Given the description of an element on the screen output the (x, y) to click on. 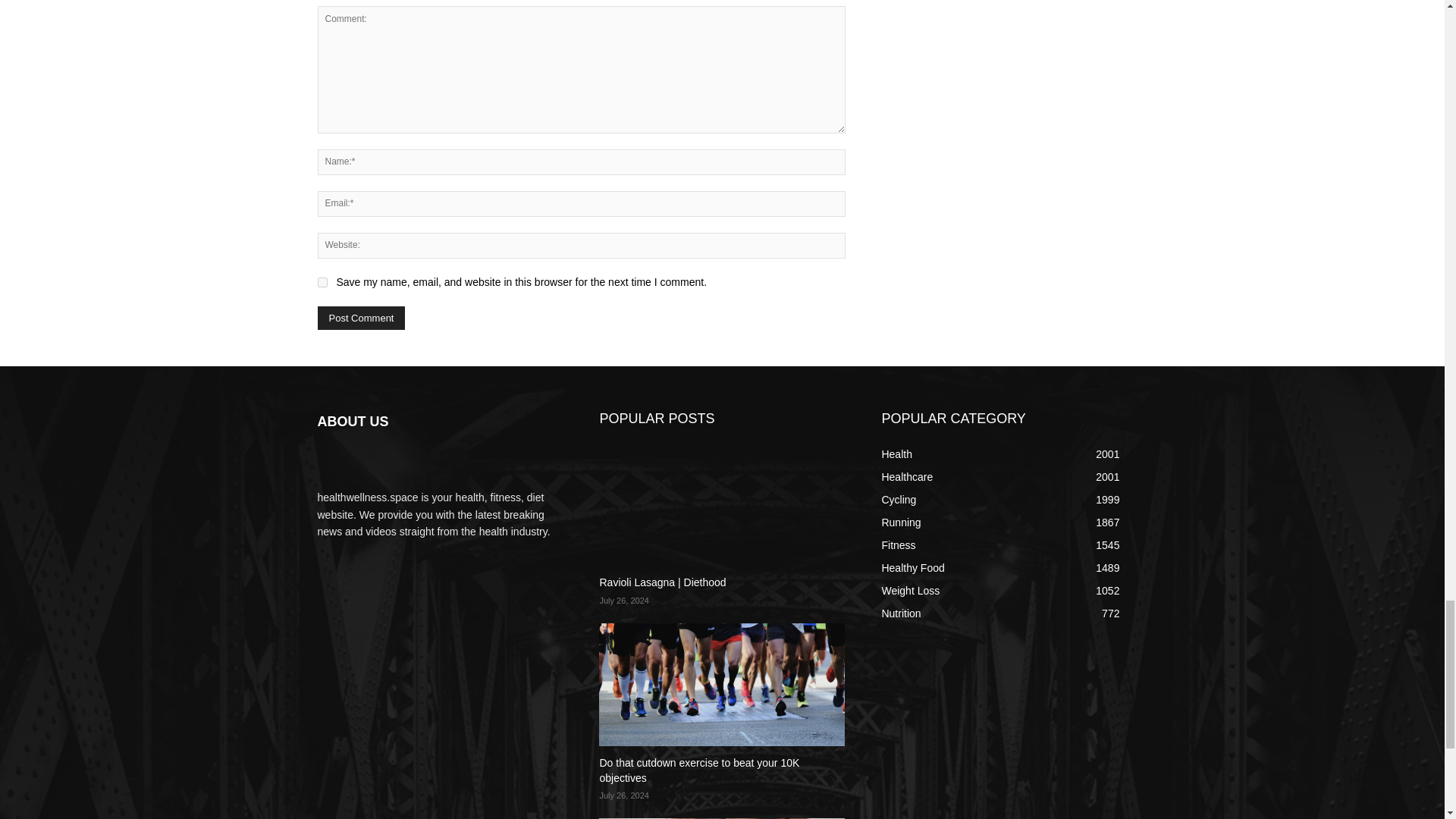
Post Comment (360, 318)
yes (321, 282)
